Given the description of an element on the screen output the (x, y) to click on. 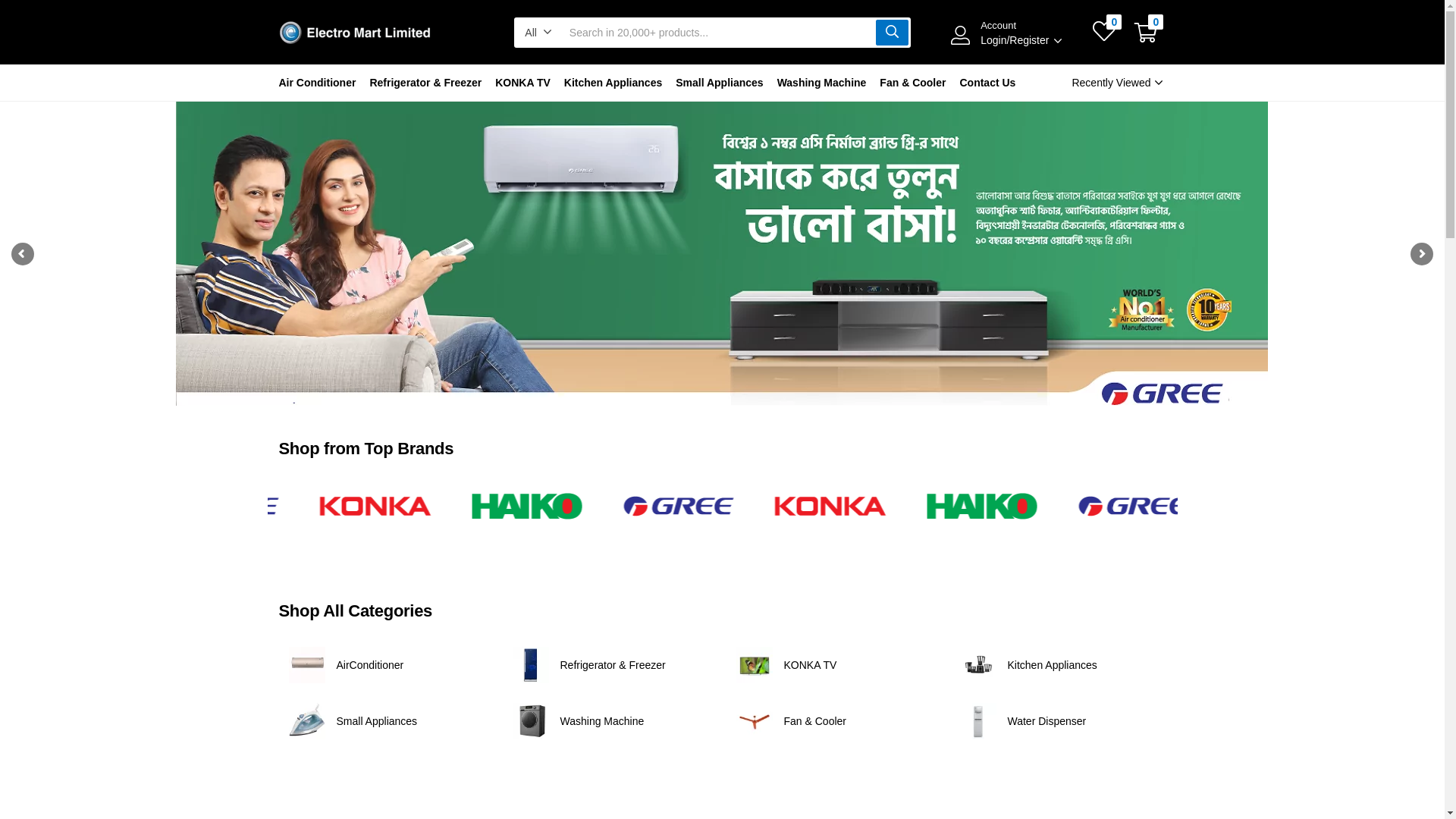
Small Appliances Element type: text (376, 720)
Refrigerator & Freezer Element type: text (425, 82)
Fan & Cooler Element type: text (815, 720)
Kitchen Appliances Element type: text (612, 82)
Air Conditioner Element type: text (321, 82)
Water Dispenser Element type: text (1046, 720)
Kitchen Appliances Element type: text (1051, 664)
EM-LOGO-white Element type: hover (354, 32)
KONKA TV Element type: text (522, 82)
AirConditioner Element type: text (370, 664)
KONKA TV Element type: text (810, 664)
0 Element type: text (1145, 32)
0 Element type: text (1103, 32)
Contact Us Element type: text (987, 82)
Washing Machine Element type: text (601, 720)
Fan & Cooler Element type: text (912, 82)
Small Appliances Element type: text (718, 82)
AccountLogin/Register Element type: text (1017, 32)
Refrigerator & Freezer Element type: text (612, 664)
Washing Machine Element type: text (821, 82)
